Given the description of an element on the screen output the (x, y) to click on. 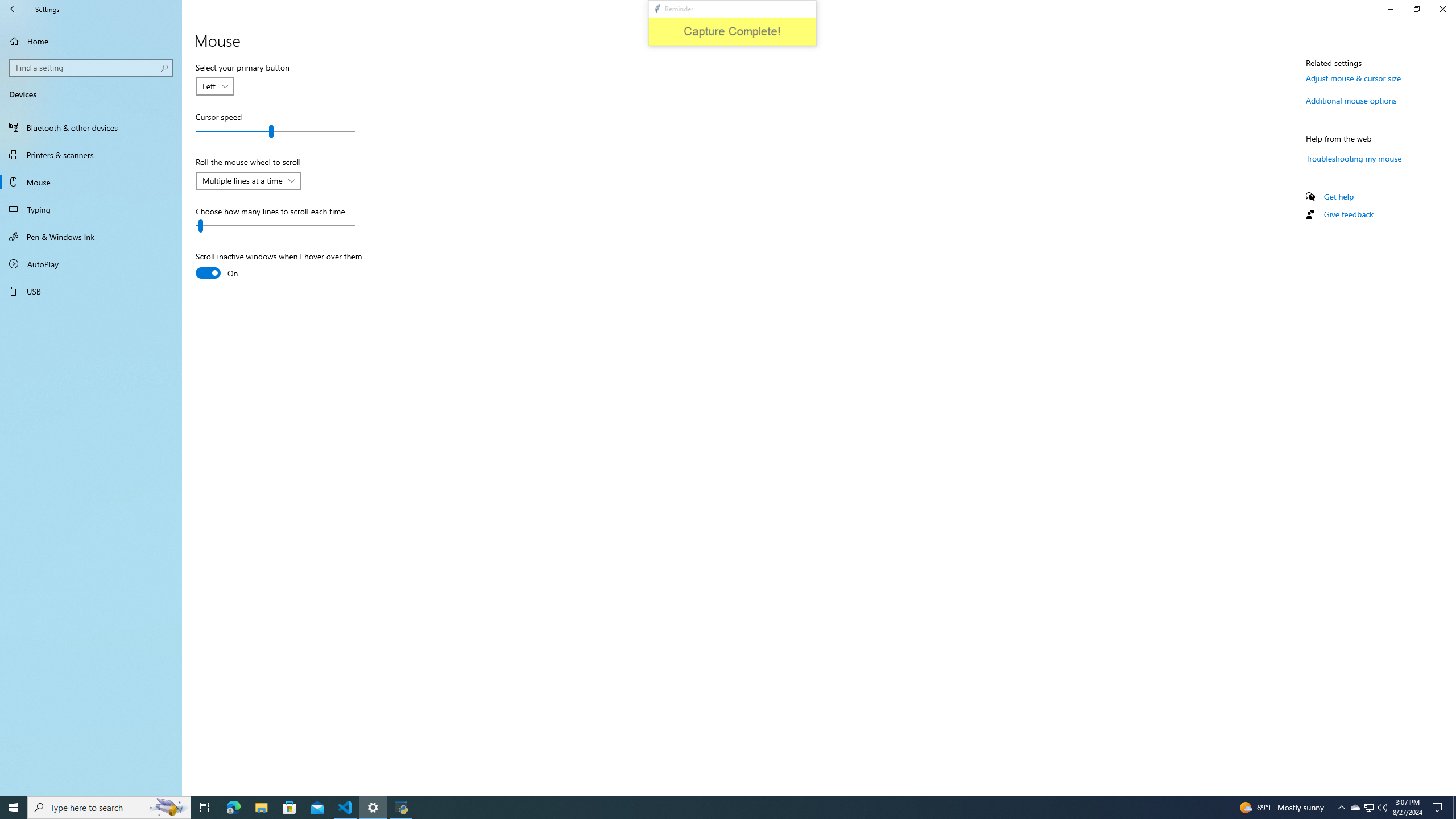
Get help (1338, 196)
Start (13, 807)
Notification Chevron (1341, 807)
Home (91, 40)
Select your primary button (214, 85)
User Promoted Notification Area (1368, 807)
Choose how many lines to scroll each time (275, 226)
Task View (204, 807)
Action Center, No new notifications (1439, 807)
Search highlights icon opens search home window (167, 807)
Show desktop (1454, 807)
Additional mouse options (1351, 100)
Settings - 1 running window (373, 807)
Visual Studio Code - 1 running window (1368, 807)
